Given the description of an element on the screen output the (x, y) to click on. 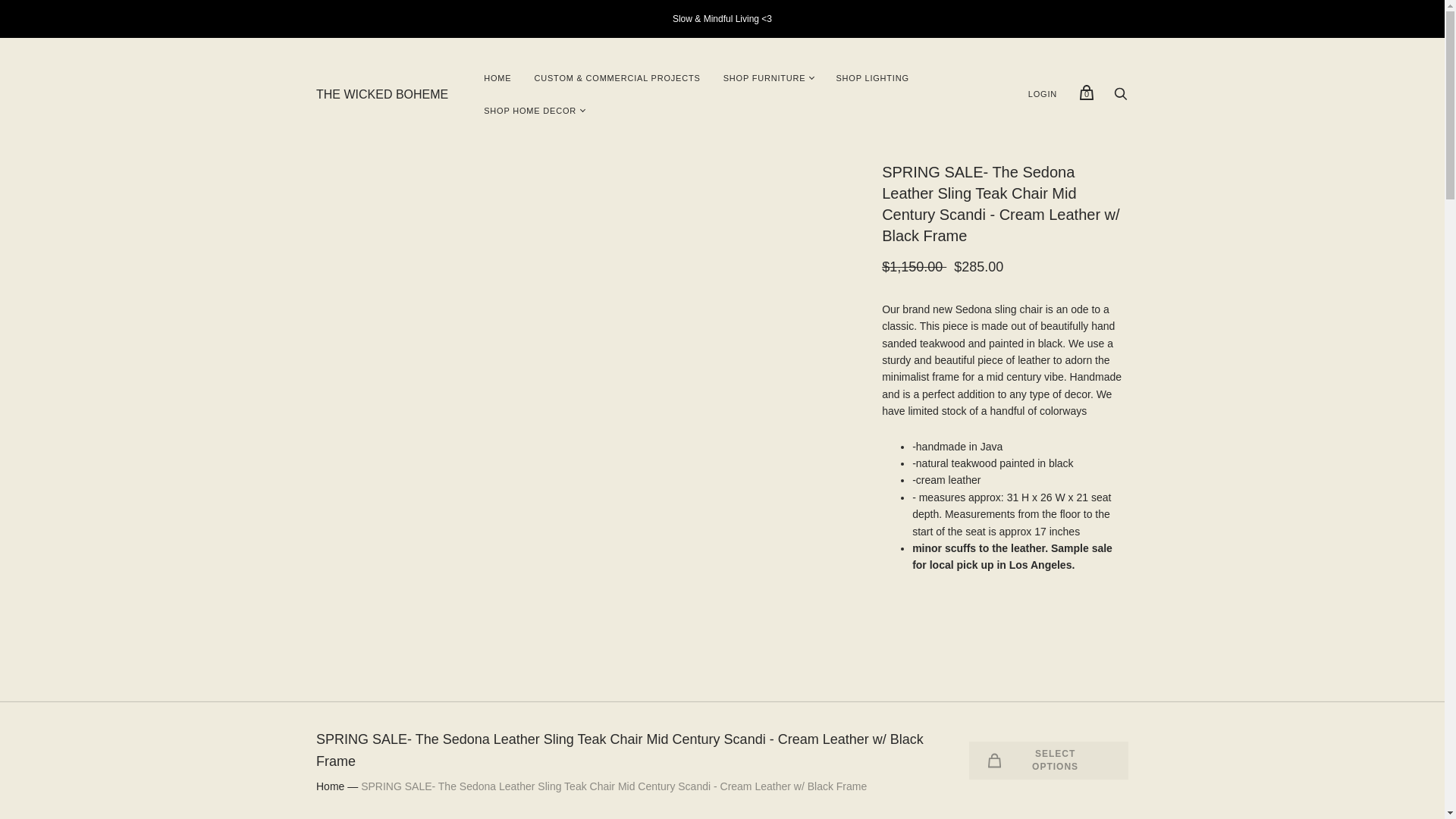
LOGIN (1042, 93)
Home (329, 786)
SHOP LIGHTING (872, 78)
HOME (496, 78)
SHOP HOME DECOR (529, 111)
SHOP FURNITURE (763, 78)
THE WICKED BOHEME (381, 93)
0 (1085, 91)
